Given the description of an element on the screen output the (x, y) to click on. 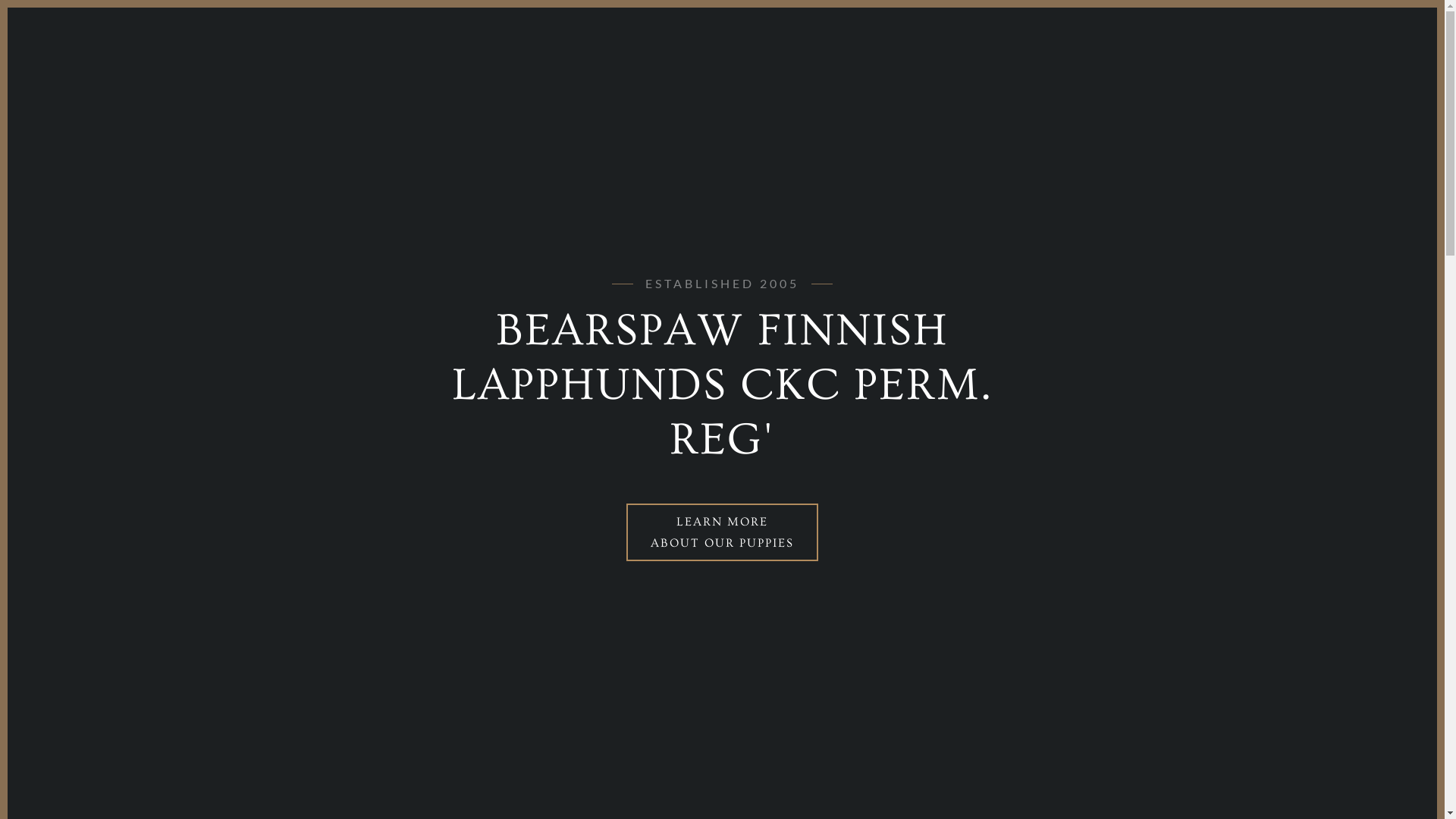
LEARN MORE
ABOUT OUR PUPPIES Element type: text (722, 532)
